Given the description of an element on the screen output the (x, y) to click on. 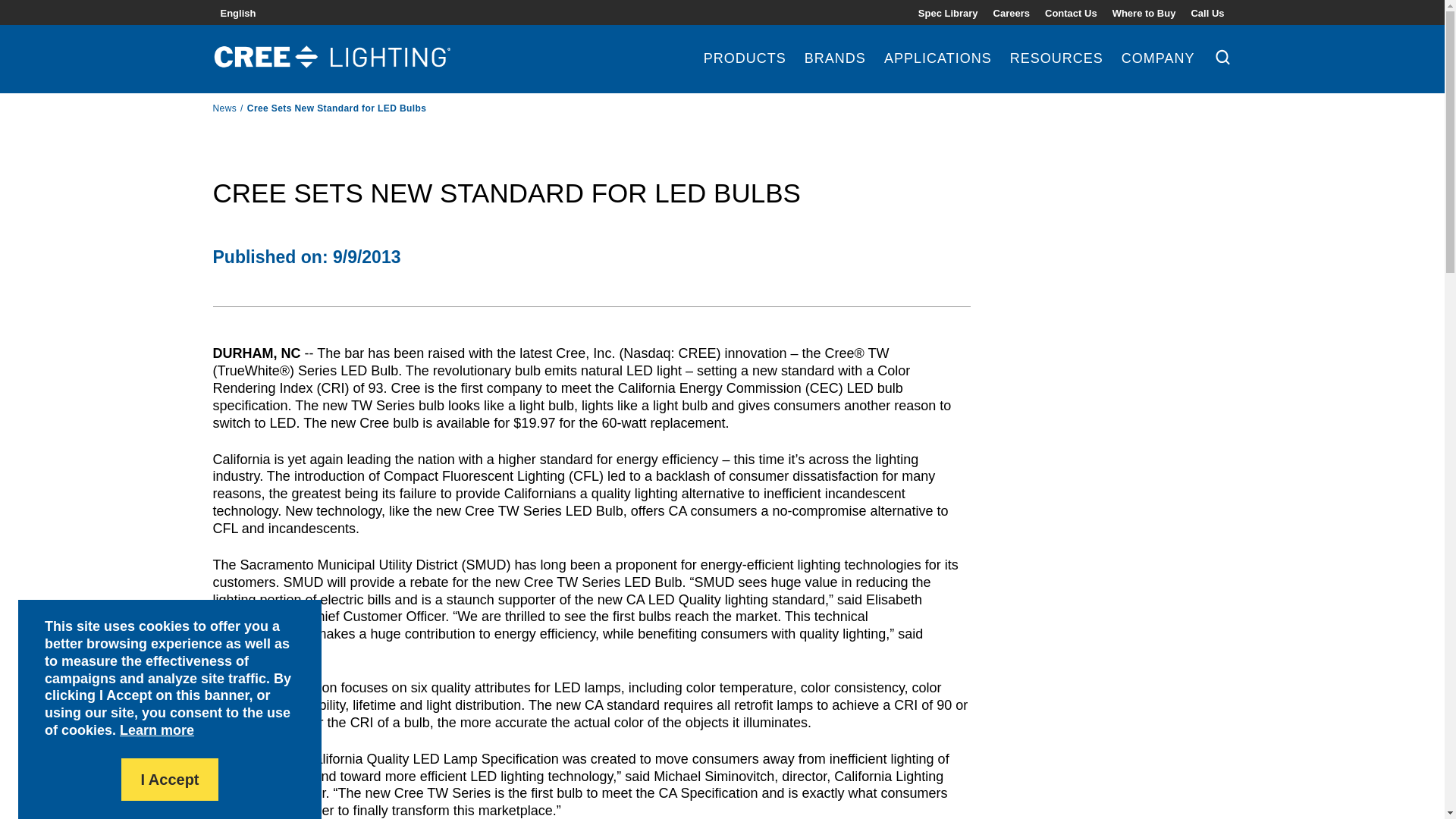
Call Us (1207, 12)
Top Navigation (1071, 12)
English (237, 12)
Spec Library (948, 12)
Where to Buy (1144, 12)
Careers (1010, 12)
Contact Us (1071, 12)
PRODUCTS (744, 72)
